Given the description of an element on the screen output the (x, y) to click on. 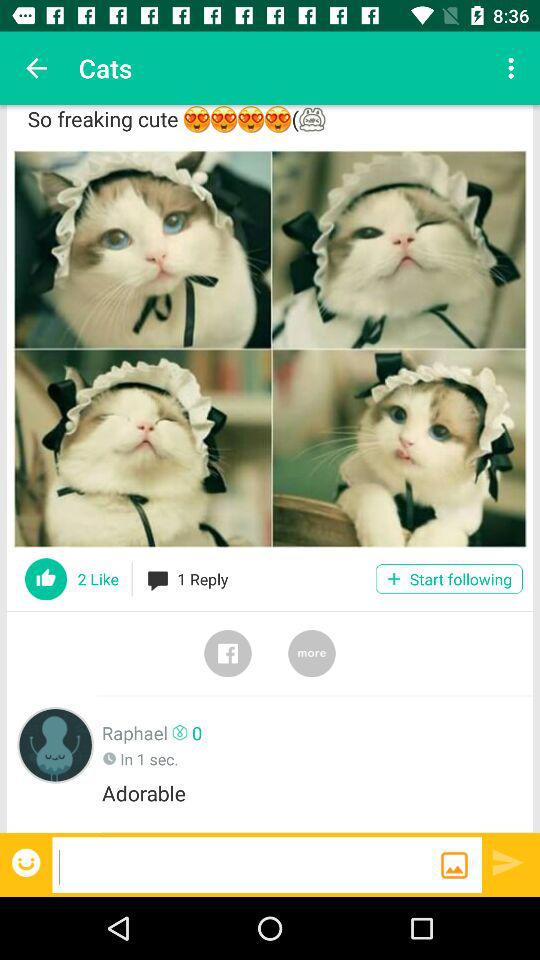
press the app next to cats icon (513, 67)
